Given the description of an element on the screen output the (x, y) to click on. 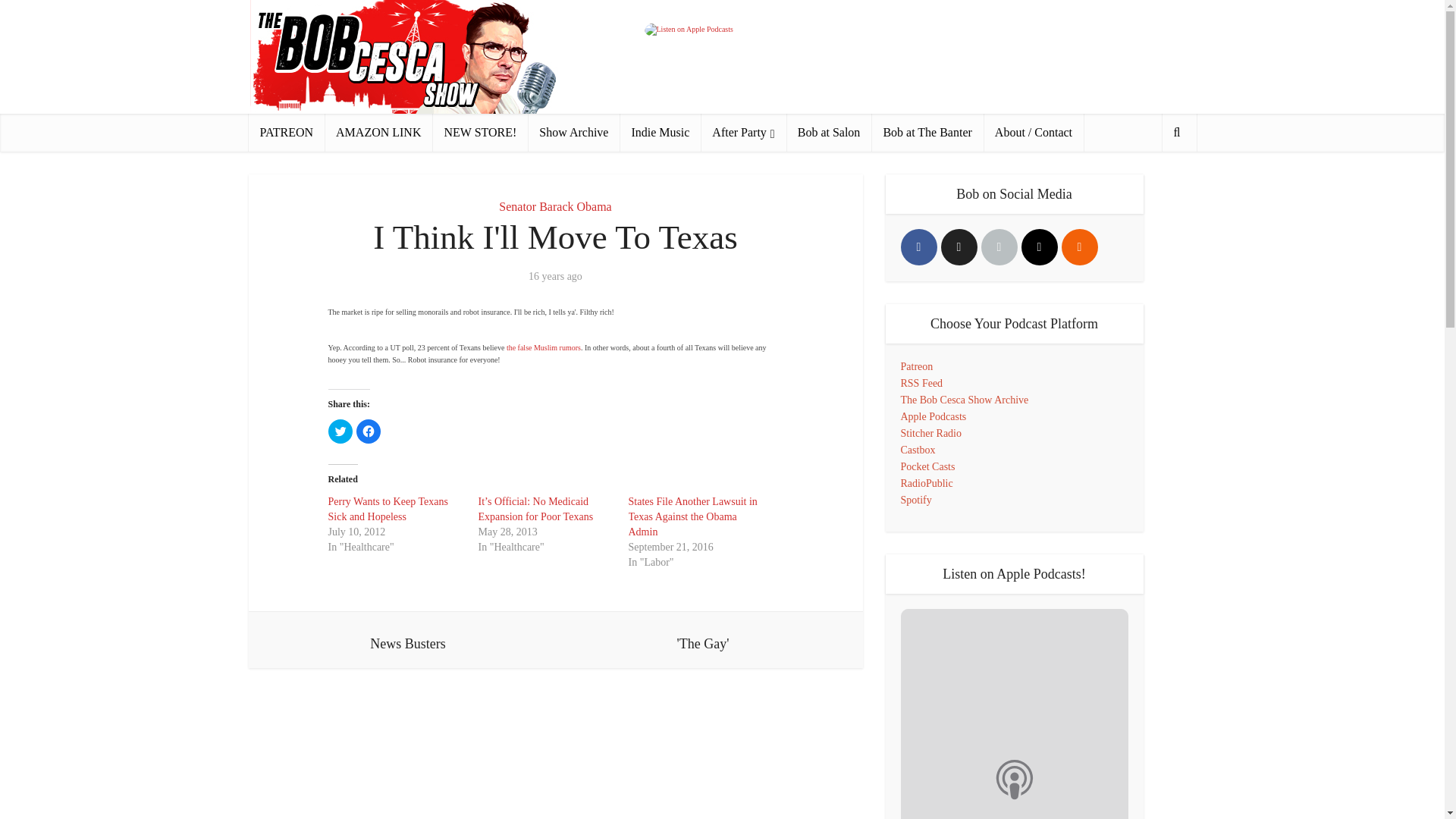
Click to share on Facebook (368, 431)
Bob at The Banter (926, 132)
AMAZON LINK (378, 132)
facebook (919, 247)
Instagram (1038, 247)
Pocket Casts (928, 466)
Perry Wants to Keep Texans Sick and Hopeless (386, 509)
States File Another Lawsuit in Texas Against the Obama Admin (692, 516)
'The Gay' (702, 639)
RSS Feed (922, 383)
Stitcher Radio (931, 432)
apple (999, 247)
Castbox (918, 449)
RadioPublic (927, 482)
Facebook (919, 247)
